Given the description of an element on the screen output the (x, y) to click on. 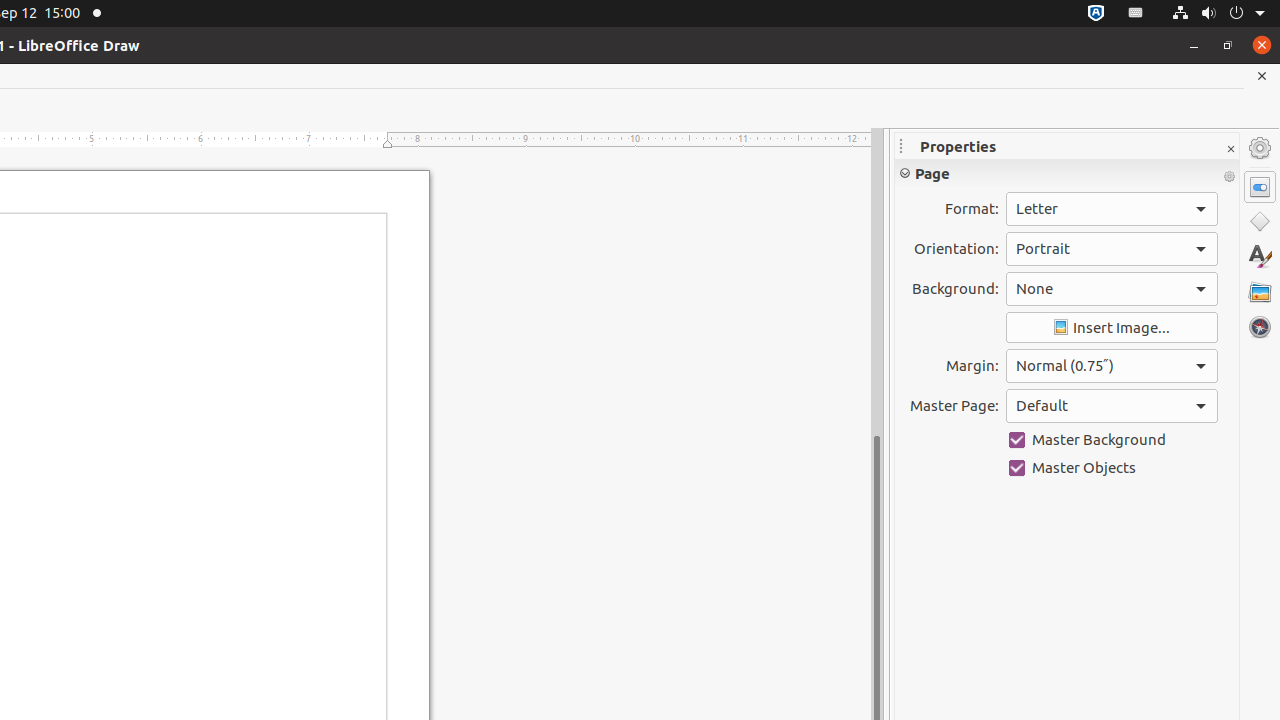
Navigator Element type: radio-button (1260, 327)
Gallery Element type: radio-button (1260, 292)
System Element type: menu (1218, 13)
Properties Element type: radio-button (1260, 187)
Orientation: Element type: combo-box (1112, 249)
